Given the description of an element on the screen output the (x, y) to click on. 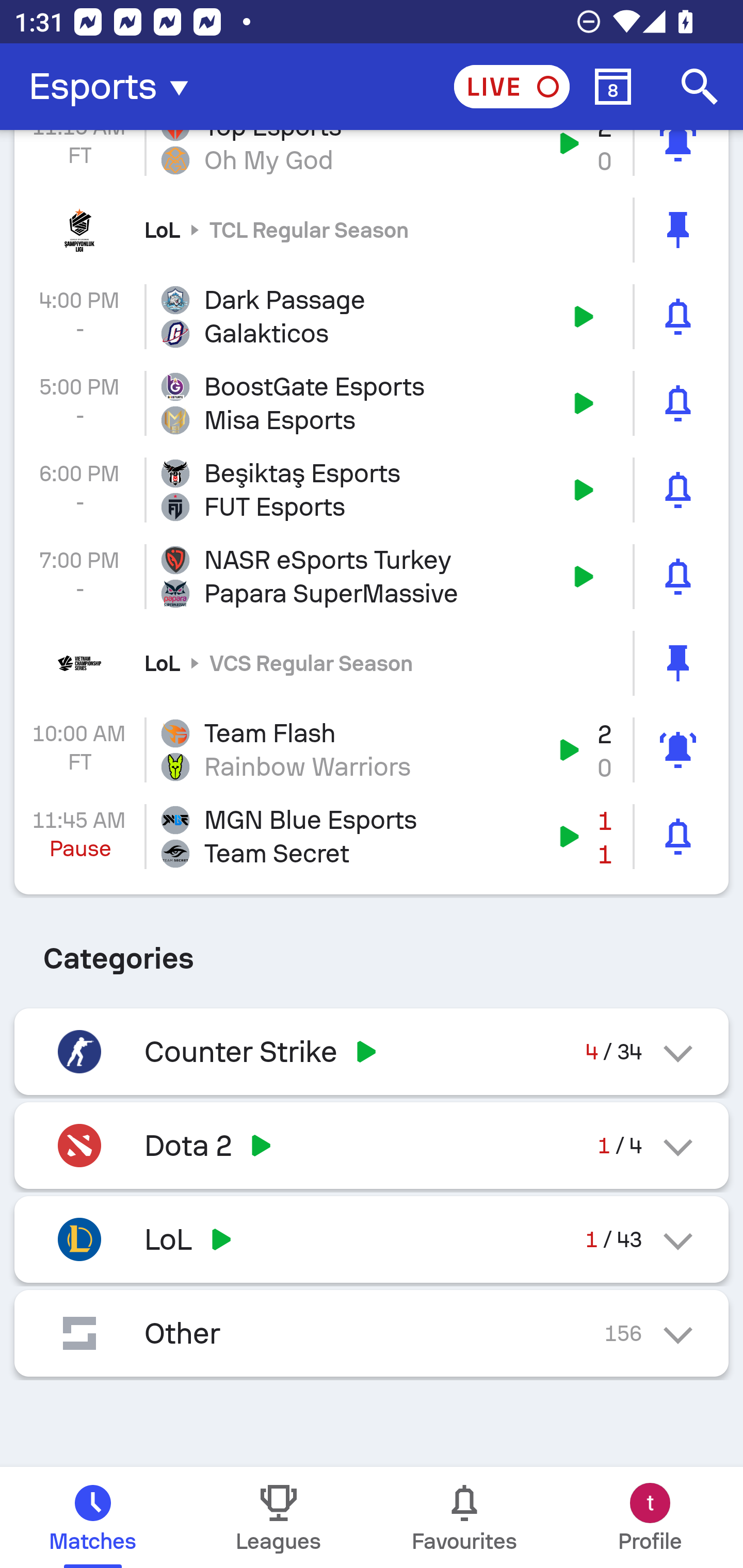
Esports (114, 86)
Calendar (612, 86)
Search (699, 86)
LoL TCL Regular Season (371, 229)
4:00 PM - Dark Passage Galakticos (371, 316)
5:00 PM - BoostGate Esports Misa Esports (371, 403)
6:00 PM - Beşiktaş Esports FUT Esports (371, 489)
7:00 PM - NASR eSports Turkey Papara SuperMassive (371, 576)
LoL VCS Regular Season (371, 663)
10:00 AM FT Team Flash Rainbow Warriors 2 0 (371, 750)
11:45 AM Pause MGN Blue Esports Team Secret 1 1 (371, 836)
Categories (371, 951)
Counter Strike 4 / 34 (371, 1051)
Dota 2 1 / 4 (371, 1145)
LoL 1 / 43 (371, 1239)
Other 156 (371, 1333)
Leagues (278, 1517)
Favourites (464, 1517)
Profile (650, 1517)
